Given the description of an element on the screen output the (x, y) to click on. 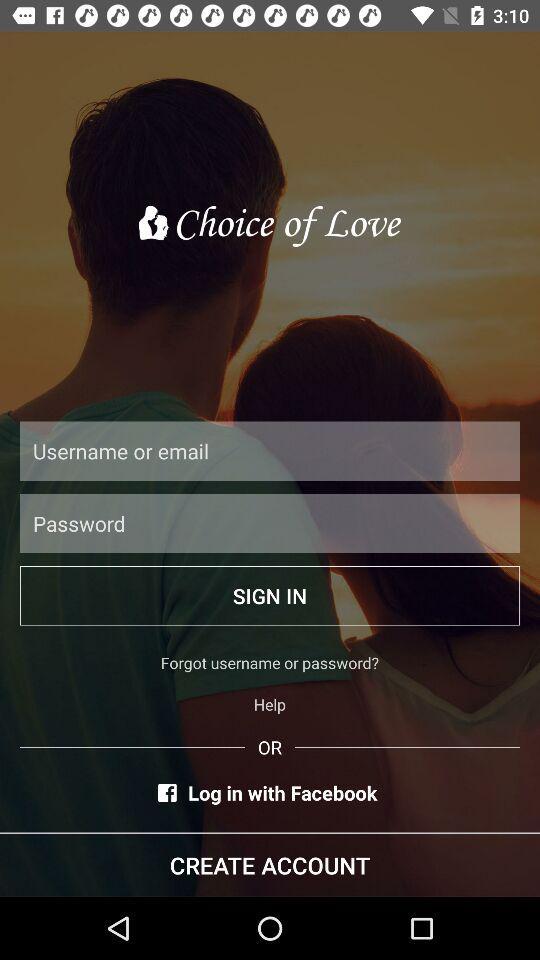
flip until sign in (269, 595)
